Given the description of an element on the screen output the (x, y) to click on. 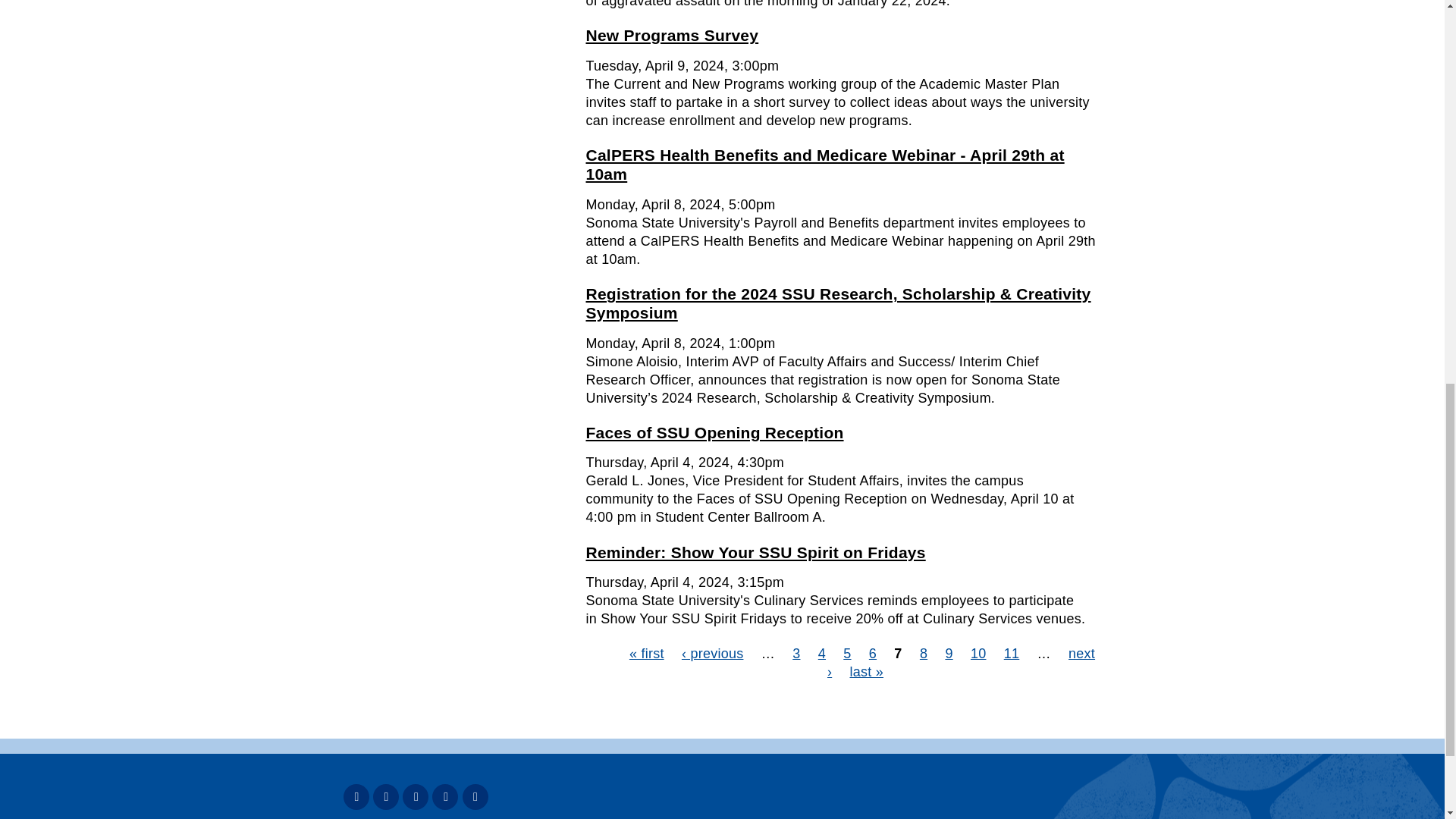
Go to first page (645, 653)
Go to page 10 (979, 653)
Go to previous page (712, 653)
Go to page 11 (1012, 653)
Go to next page (960, 662)
Go to last page (865, 671)
